Given the description of an element on the screen output the (x, y) to click on. 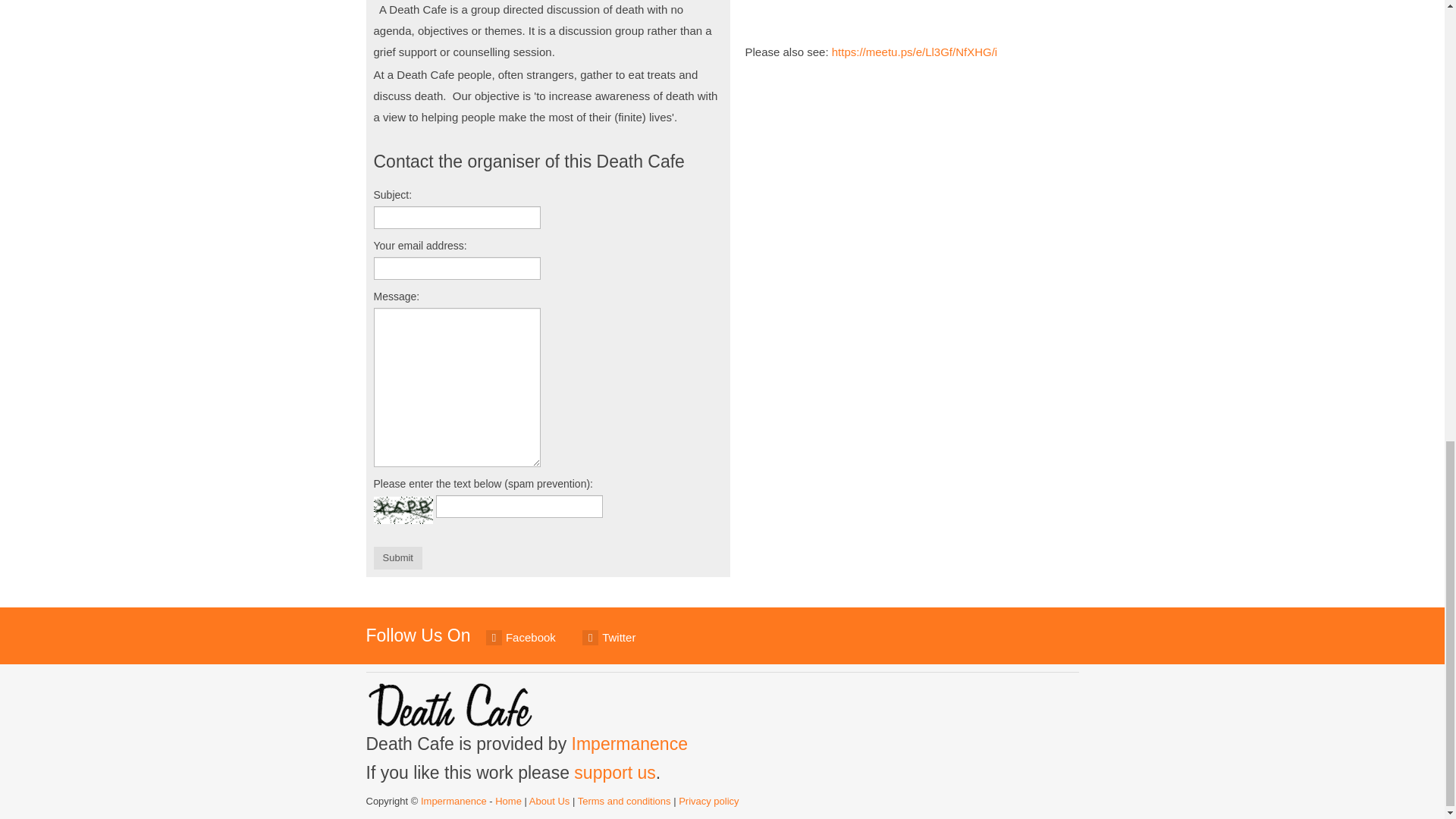
Facebook (521, 637)
Impermanence (453, 800)
support us (614, 772)
Twitter (608, 637)
Impermanence (629, 743)
Submit (397, 558)
